Given the description of an element on the screen output the (x, y) to click on. 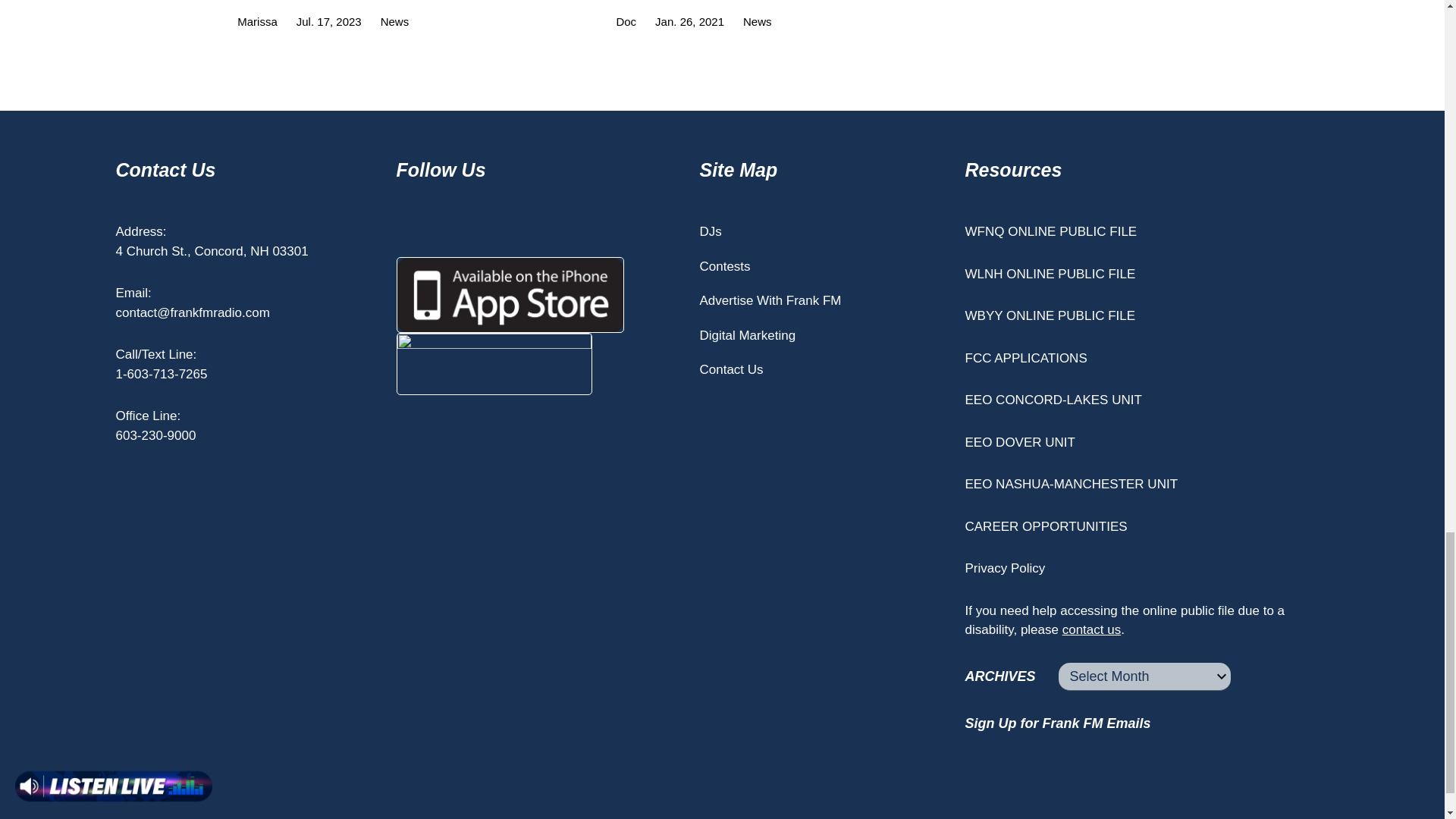
App Store (510, 294)
News (390, 21)
Marissa (254, 21)
Google Play (494, 363)
